Given the description of an element on the screen output the (x, y) to click on. 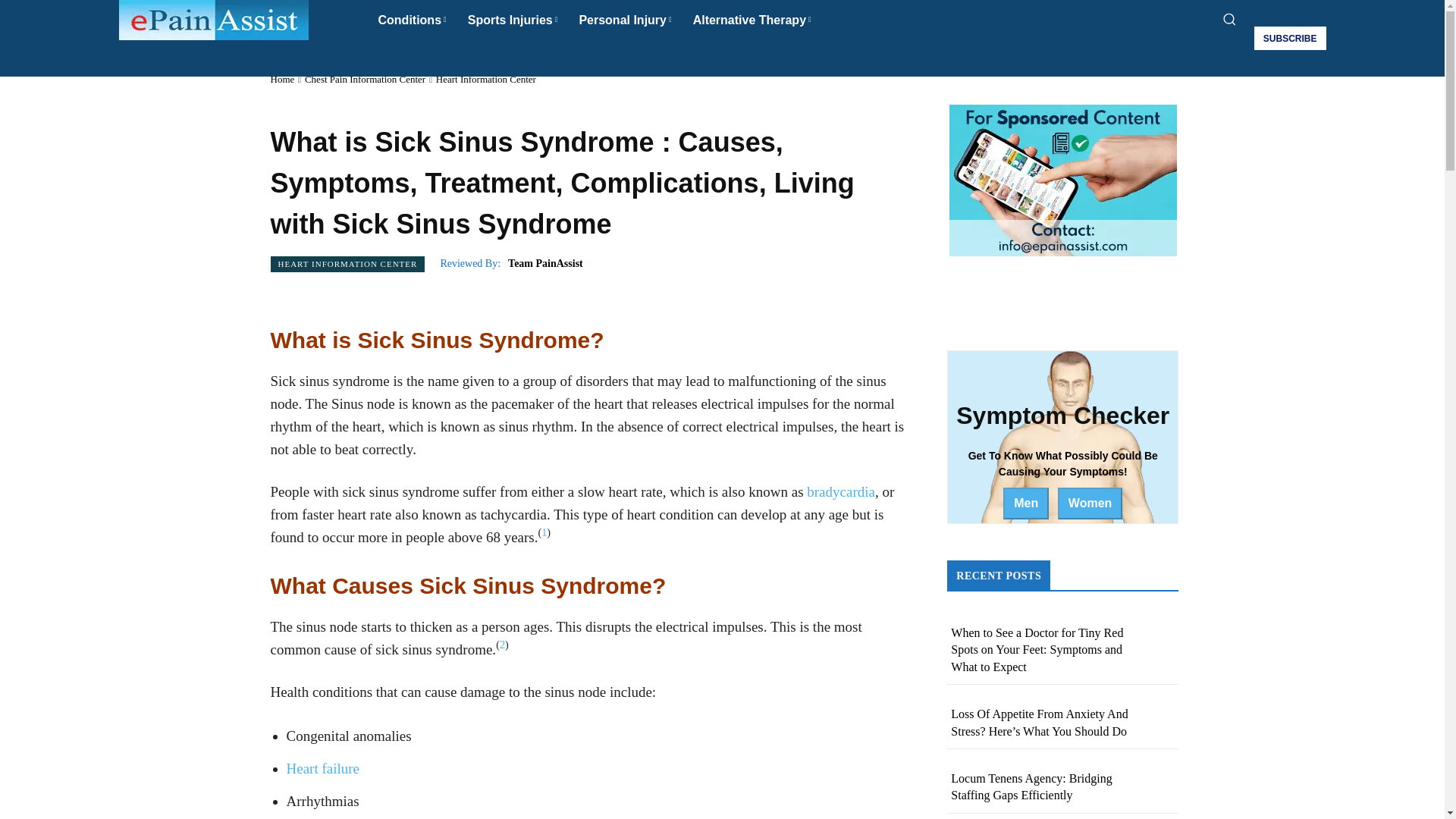
Locum Tenens Agency: Bridging Staffing Gaps Efficiently (1031, 786)
Search (722, 55)
Sponsored Content Advertisement (1062, 180)
View all posts in Chest Pain Information Center (364, 79)
View all posts in Heart Information Center (485, 79)
